Given the description of an element on the screen output the (x, y) to click on. 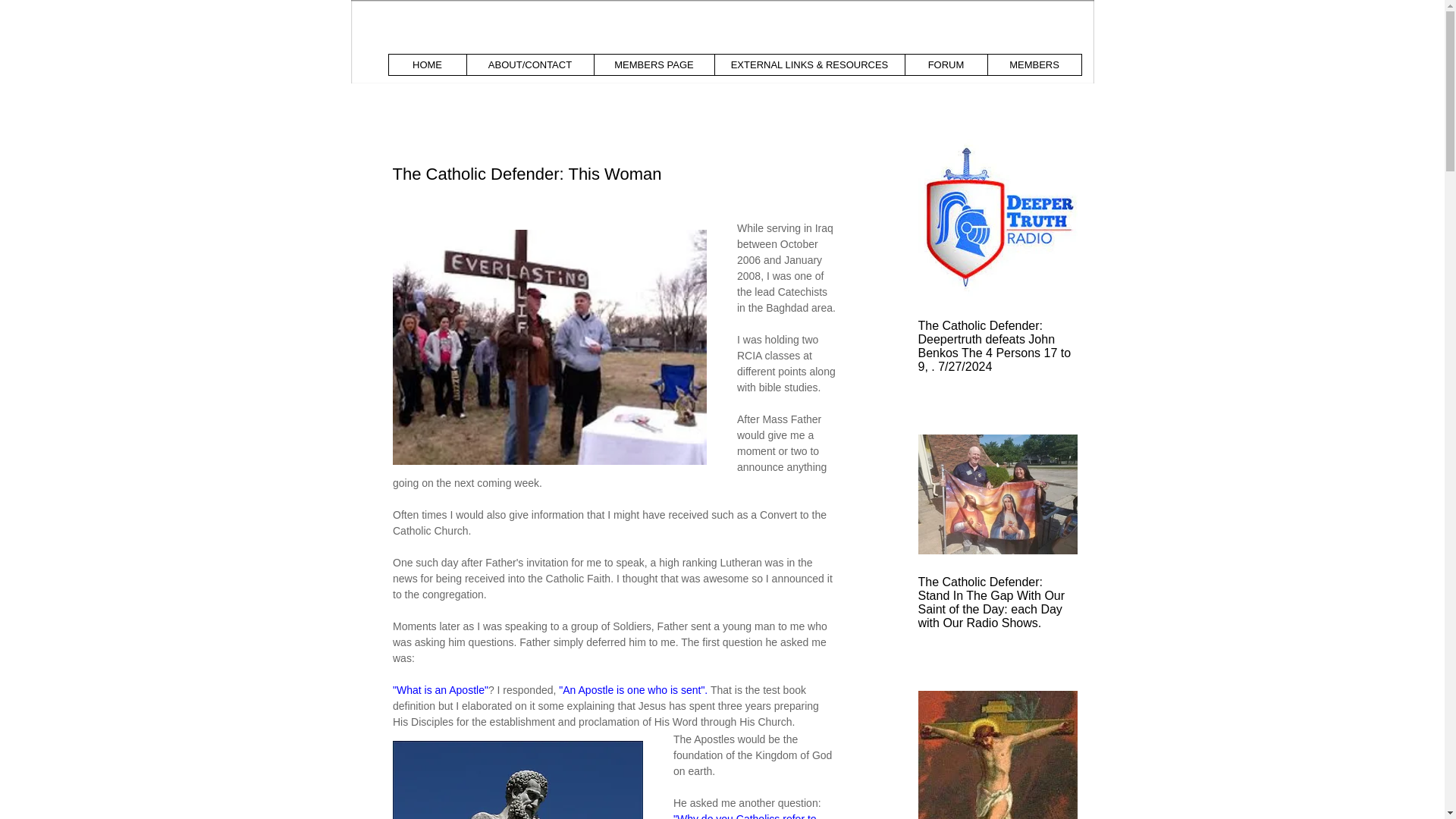
MEMBERS (1034, 64)
MEMBERS PAGE (652, 64)
FORUM (945, 64)
HOME (426, 64)
